Given the description of an element on the screen output the (x, y) to click on. 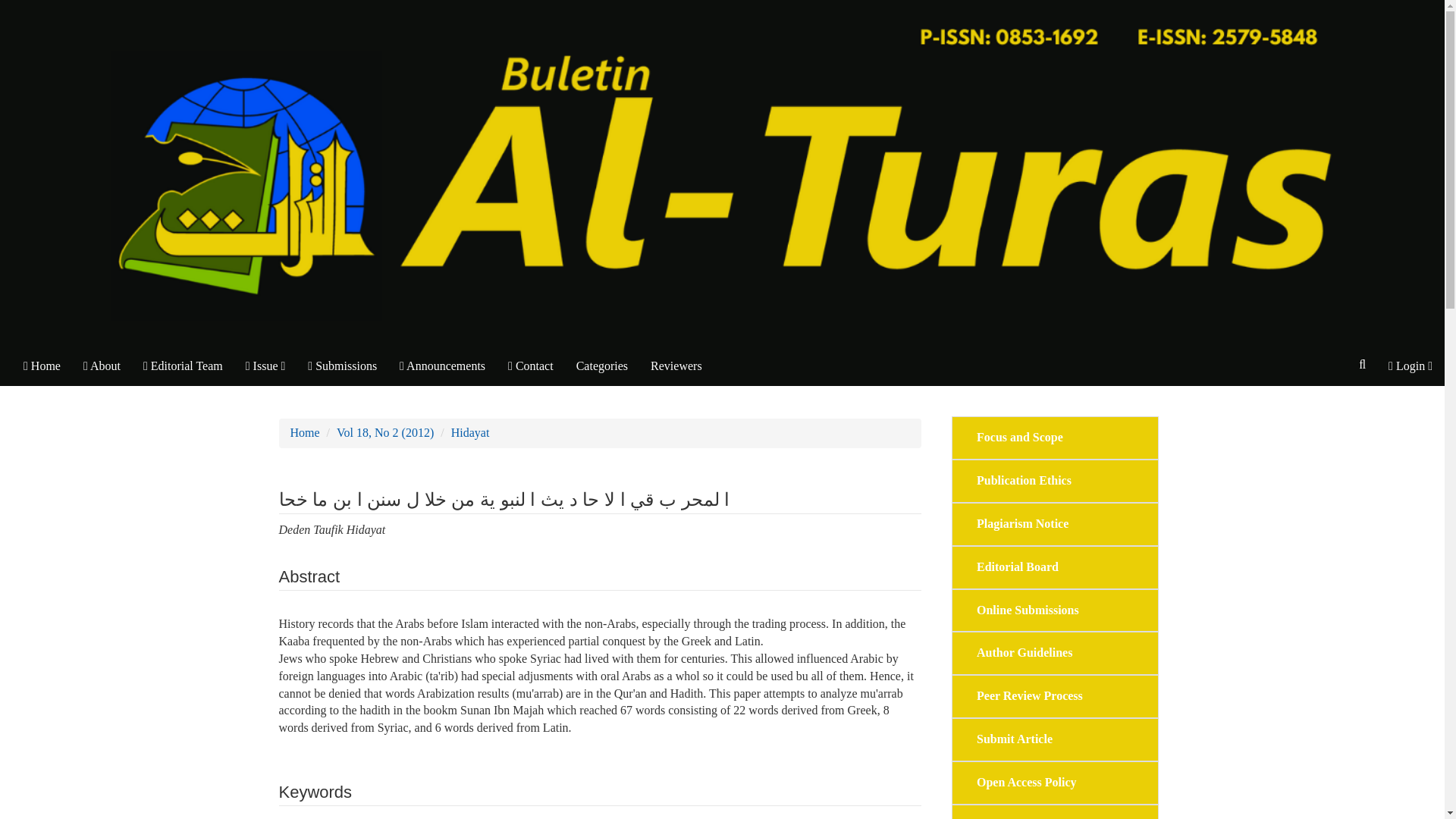
Reviewers (1027, 610)
Peer Review Process (1029, 696)
Home (303, 431)
Login (1410, 365)
Publication Ethics (1023, 480)
Plagiarism Notice (1022, 524)
Focus and Scope (1019, 437)
About (101, 365)
Announcements (442, 365)
Hidayat (470, 431)
